Given the description of an element on the screen output the (x, y) to click on. 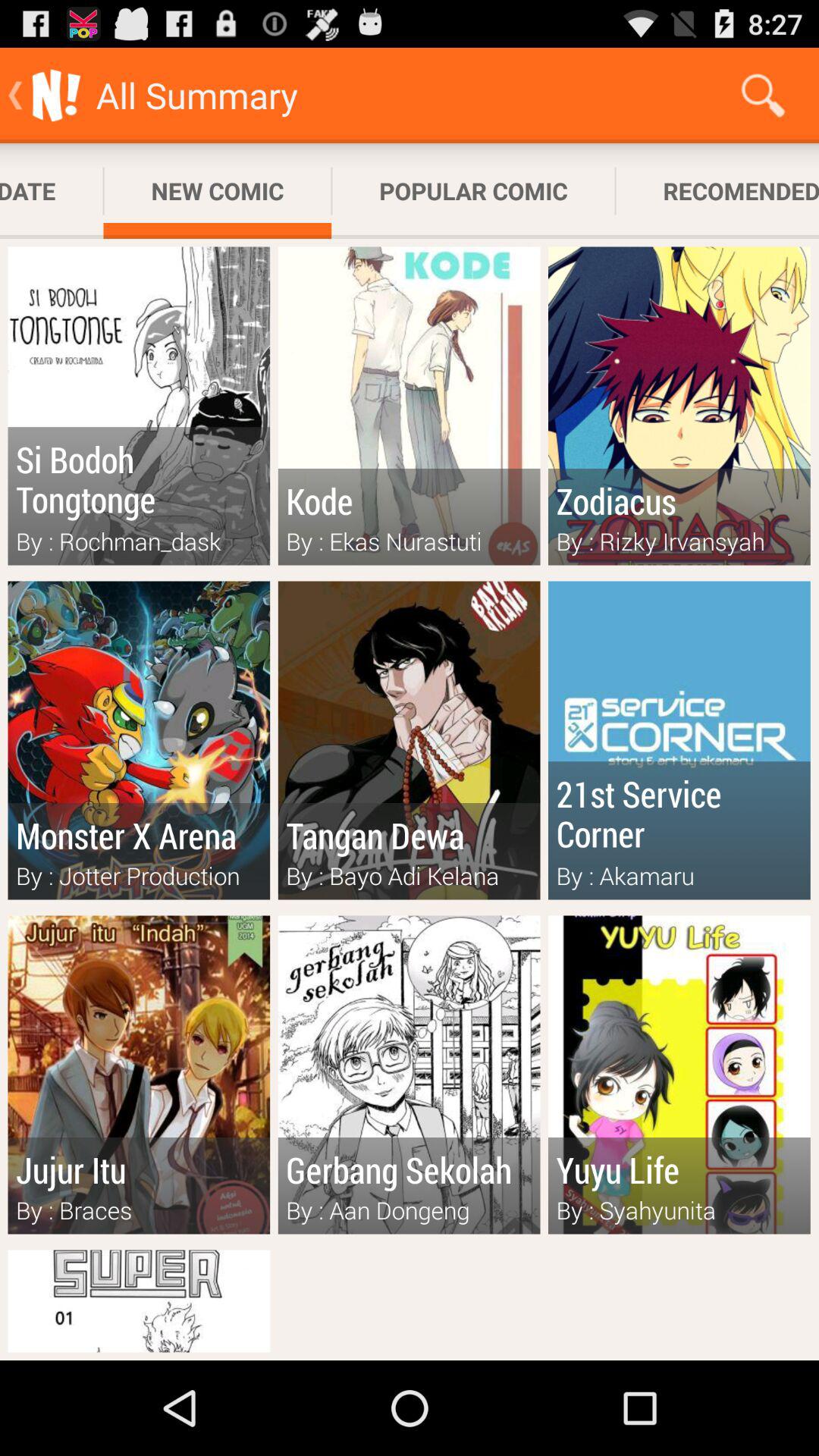
tap subscribed update app (51, 190)
